Given the description of an element on the screen output the (x, y) to click on. 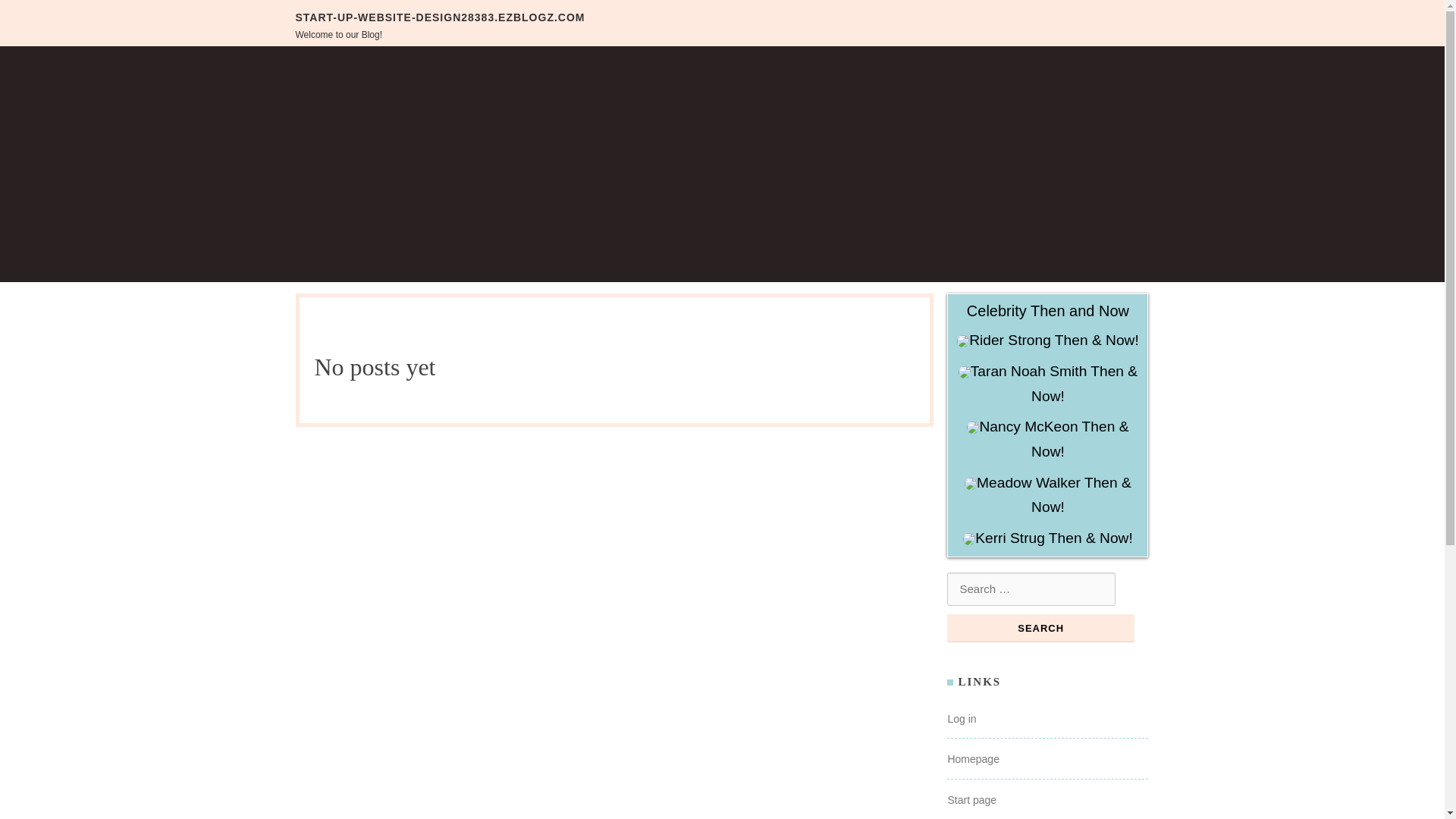
Start page (971, 799)
Skip to content (48, 12)
Search (1040, 628)
Search (1040, 628)
Homepage (972, 758)
Search (1040, 628)
START-UP-WEBSITE-DESIGN28383.EZBLOGZ.COM (440, 16)
Log in (961, 718)
